Given the description of an element on the screen output the (x, y) to click on. 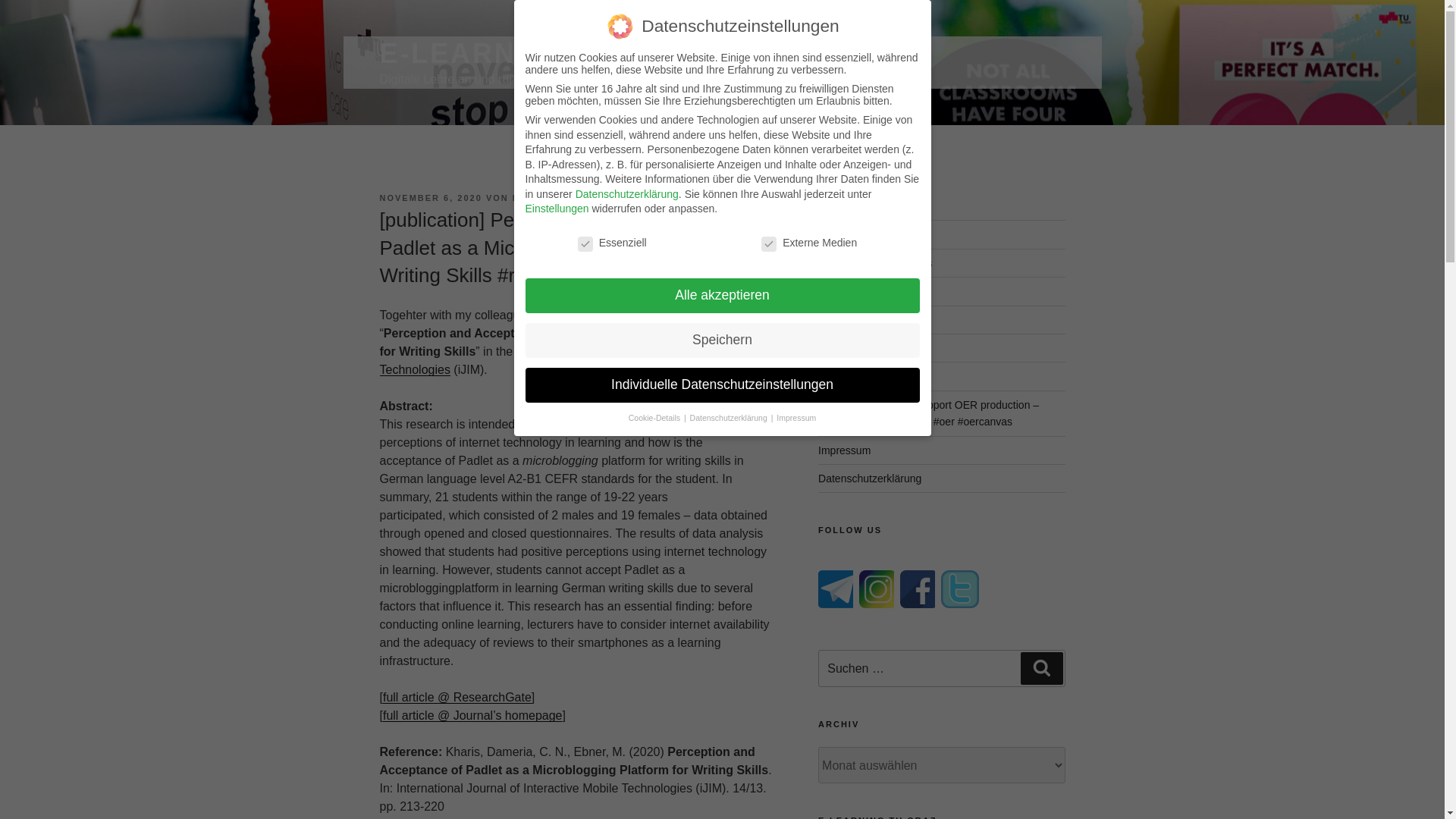
International Journal of Interactive Mobile Technologies (558, 359)
Impressum (844, 450)
Dissertationen (852, 347)
Suchen (1041, 667)
NOVEMBER 6, 2020 (429, 197)
MARTIN (533, 197)
Masterarbeiten (853, 319)
E-LEARNING BLOG (523, 52)
Bachelorarbeiten (858, 291)
Publikationen (850, 234)
